Given the description of an element on the screen output the (x, y) to click on. 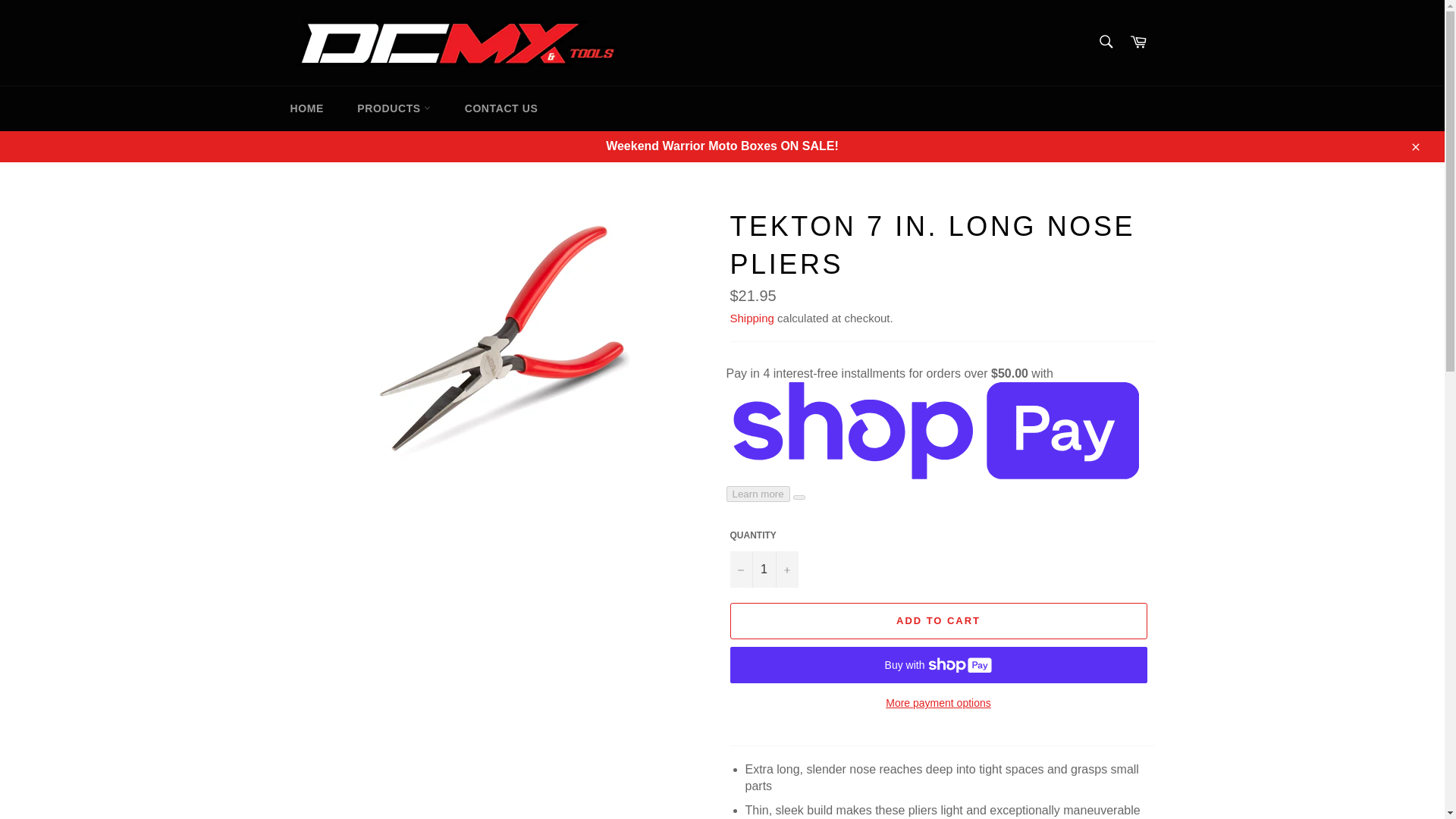
Cart (1138, 42)
PRODUCTS (393, 108)
1 (763, 569)
CONTACT US (501, 108)
Search (1104, 41)
HOME (306, 108)
